Given the description of an element on the screen output the (x, y) to click on. 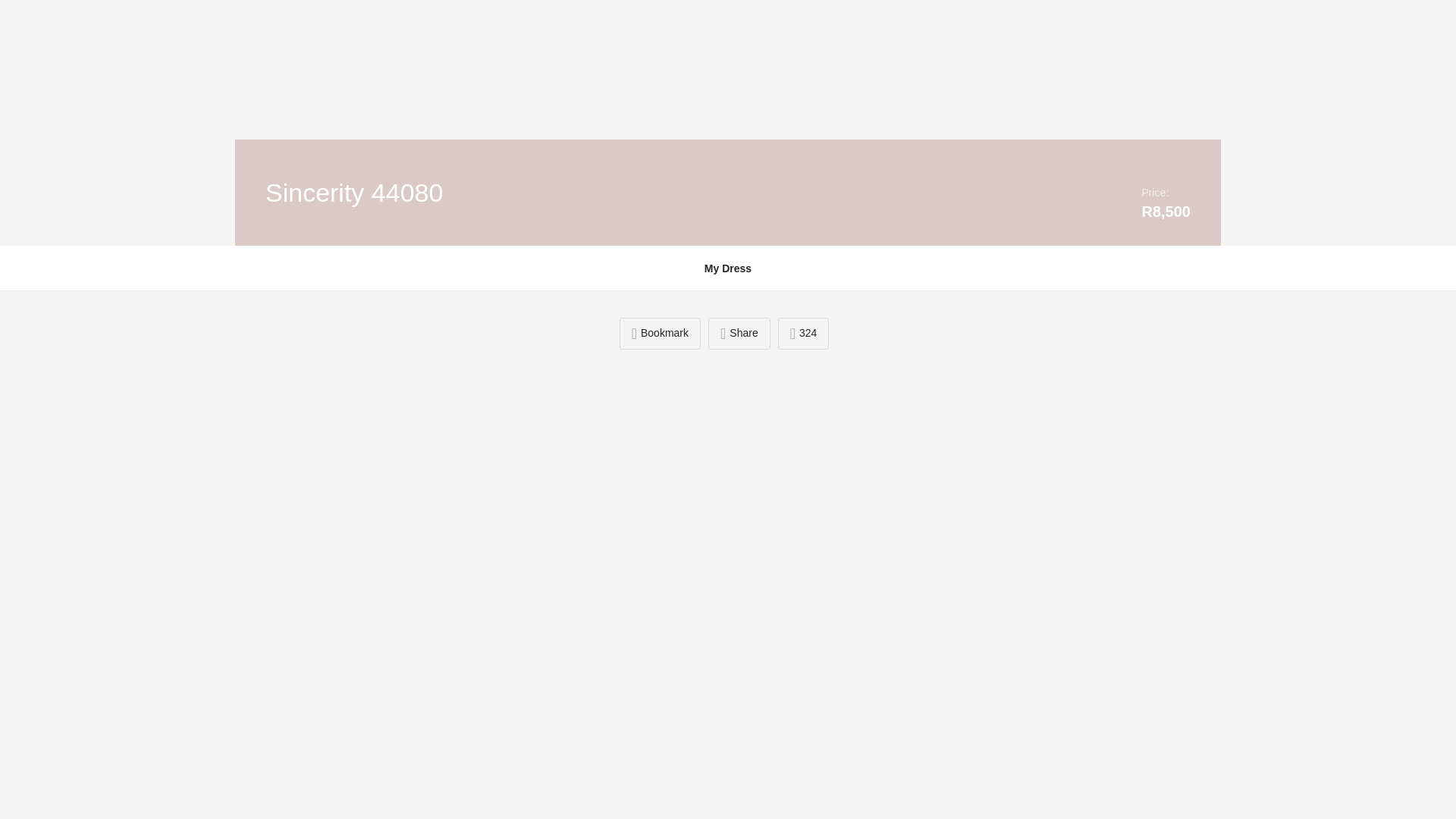
324 (803, 333)
Bookmark (660, 333)
My Dress (727, 268)
Share (738, 333)
